Given the description of an element on the screen output the (x, y) to click on. 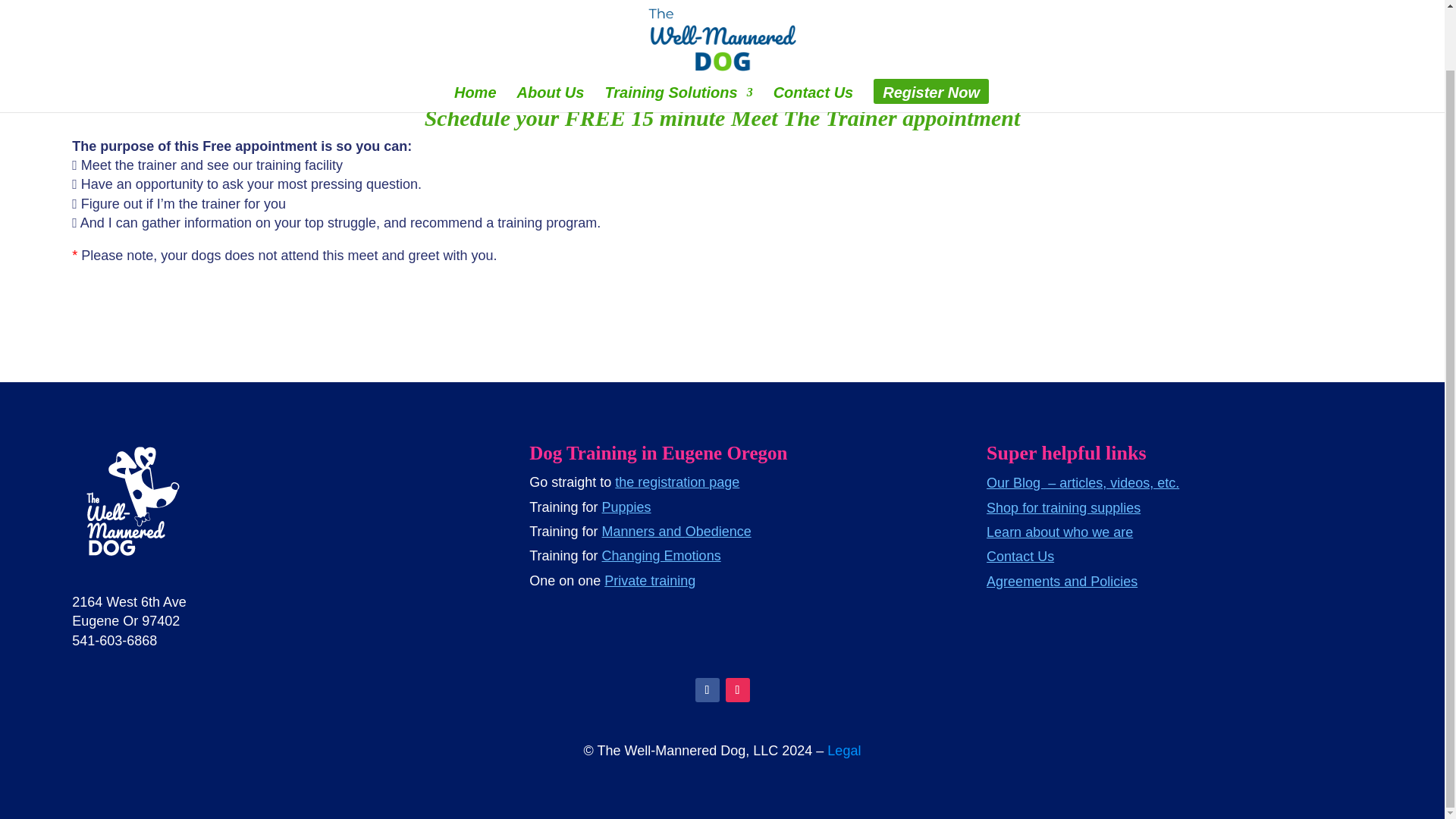
Register Now (930, 33)
Puppies (626, 507)
the (625, 482)
Home (475, 33)
Agreements and Policies (1062, 581)
Private training (649, 580)
Learn about who we are (1059, 531)
Manners and  (643, 531)
Contact Us (813, 33)
Contact Us (1020, 556)
Legal (843, 750)
Changing Emotions (661, 555)
Obedience (718, 531)
Shop for training supplies (1063, 507)
Training Solutions (678, 33)
